Given the description of an element on the screen output the (x, y) to click on. 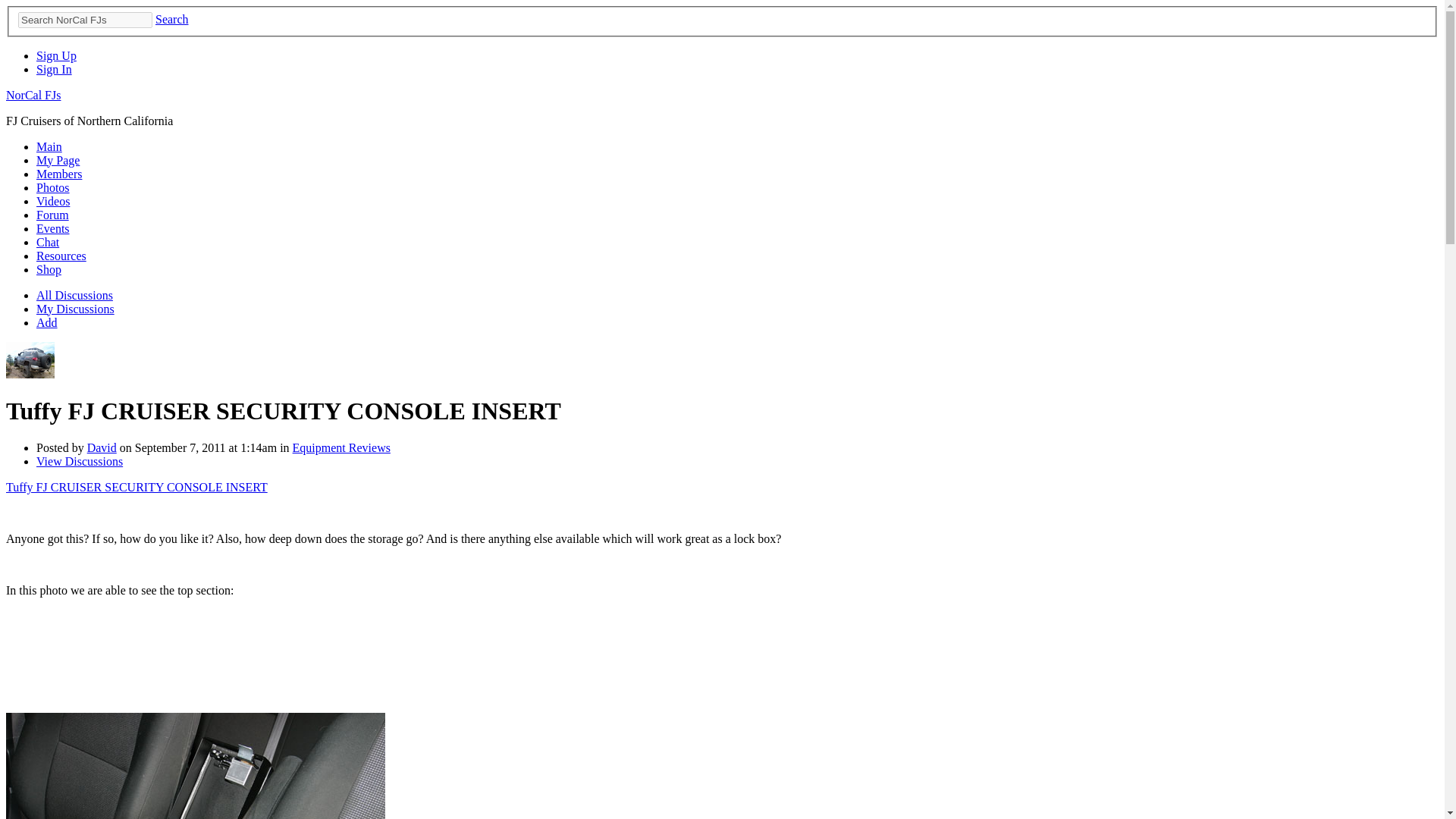
Shop (48, 269)
Chat (47, 241)
My Discussions (75, 308)
Tuffy FJ CRUISER SECURITY CONSOLE INSERT (136, 486)
Posted by (61, 447)
on September 7, 2011 at 1:14am in (204, 447)
Sign Up (56, 55)
Forum (52, 214)
Search (172, 19)
Search NorCal FJs (84, 19)
Resources (60, 255)
Equipment Reviews (341, 447)
David (30, 373)
Videos (52, 201)
All Discussions (74, 295)
